Given the description of an element on the screen output the (x, y) to click on. 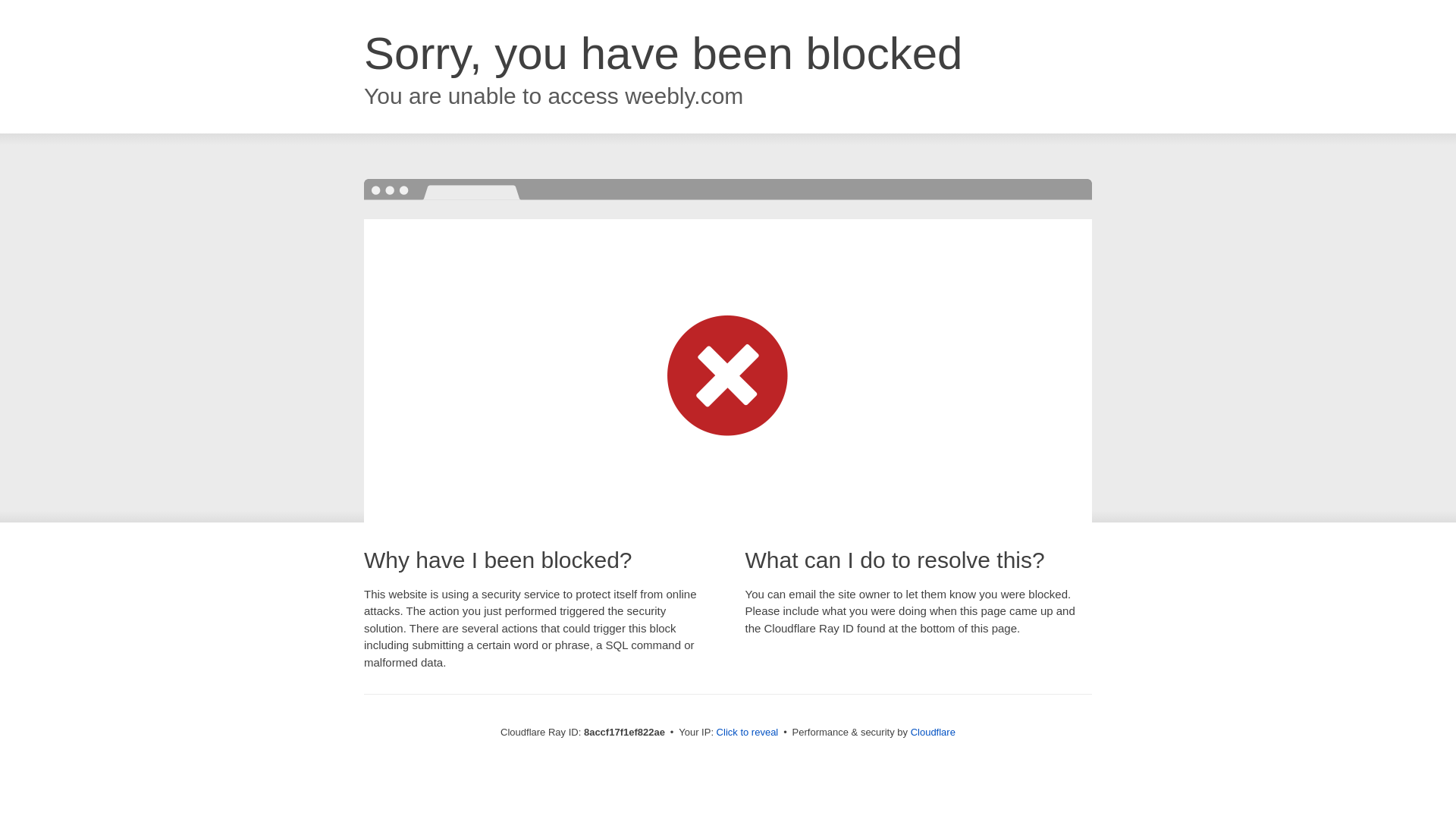
Cloudflare (933, 731)
Click to reveal (747, 732)
